Given the description of an element on the screen output the (x, y) to click on. 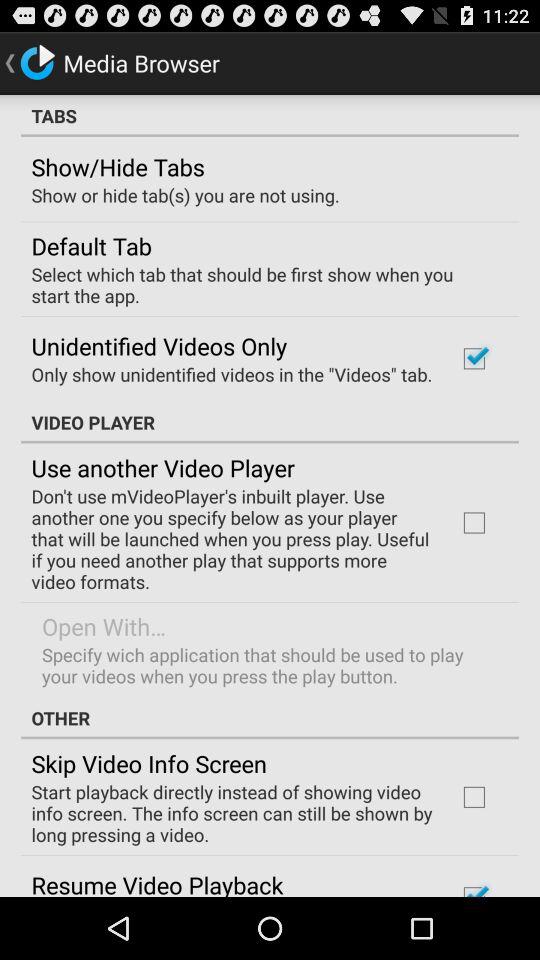
turn off app above unidentified videos only app (263, 284)
